Given the description of an element on the screen output the (x, y) to click on. 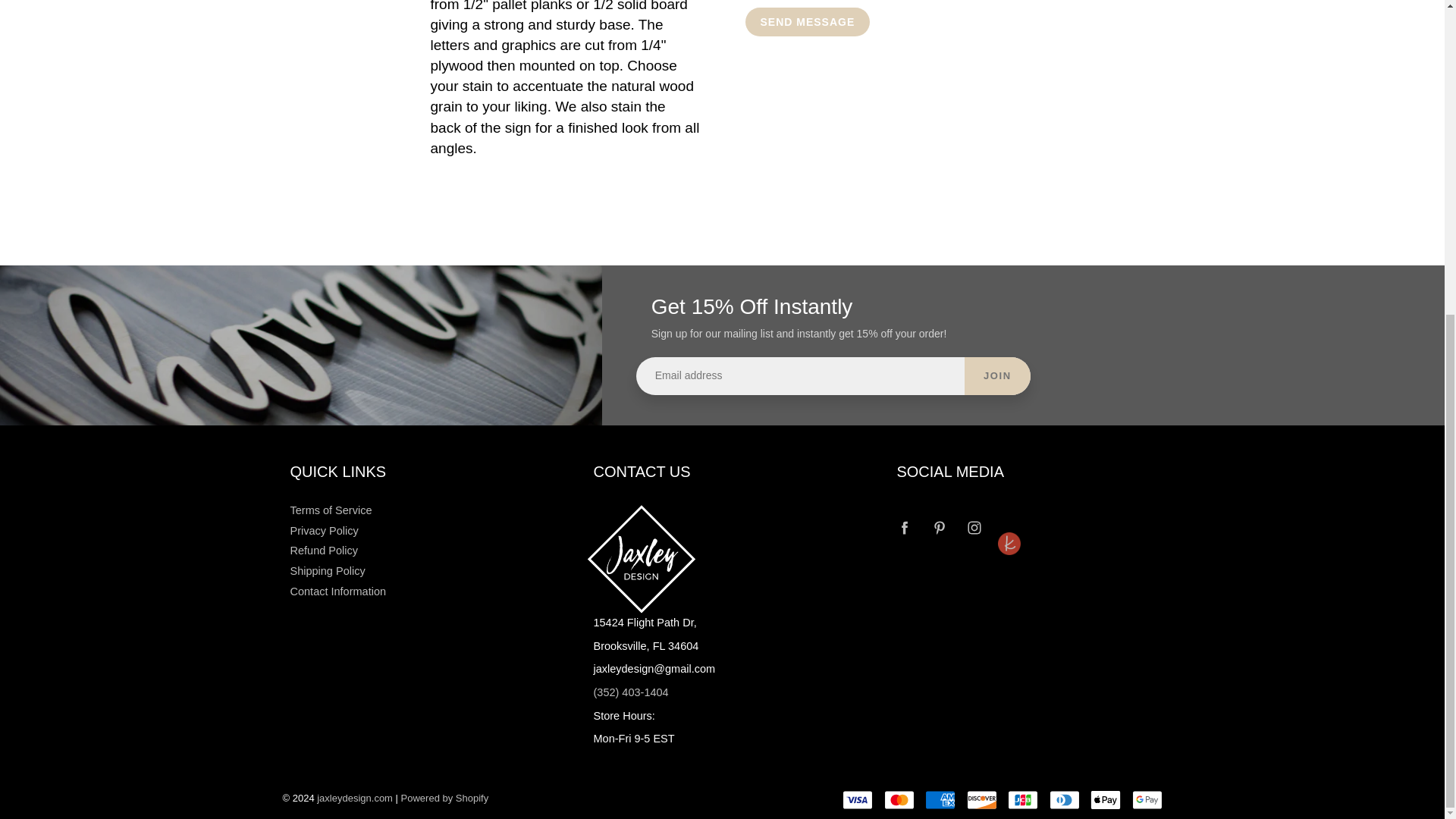
Facebook (904, 528)
Pinterest (939, 528)
Apple Pay (1105, 799)
Discover (981, 799)
Visa (857, 799)
Google Pay (1146, 799)
round (1009, 515)
JCB (1022, 799)
Diners Club (1064, 799)
American Express (939, 799)
Instagram (974, 528)
Mastercard (898, 799)
